Given the description of an element on the screen output the (x, y) to click on. 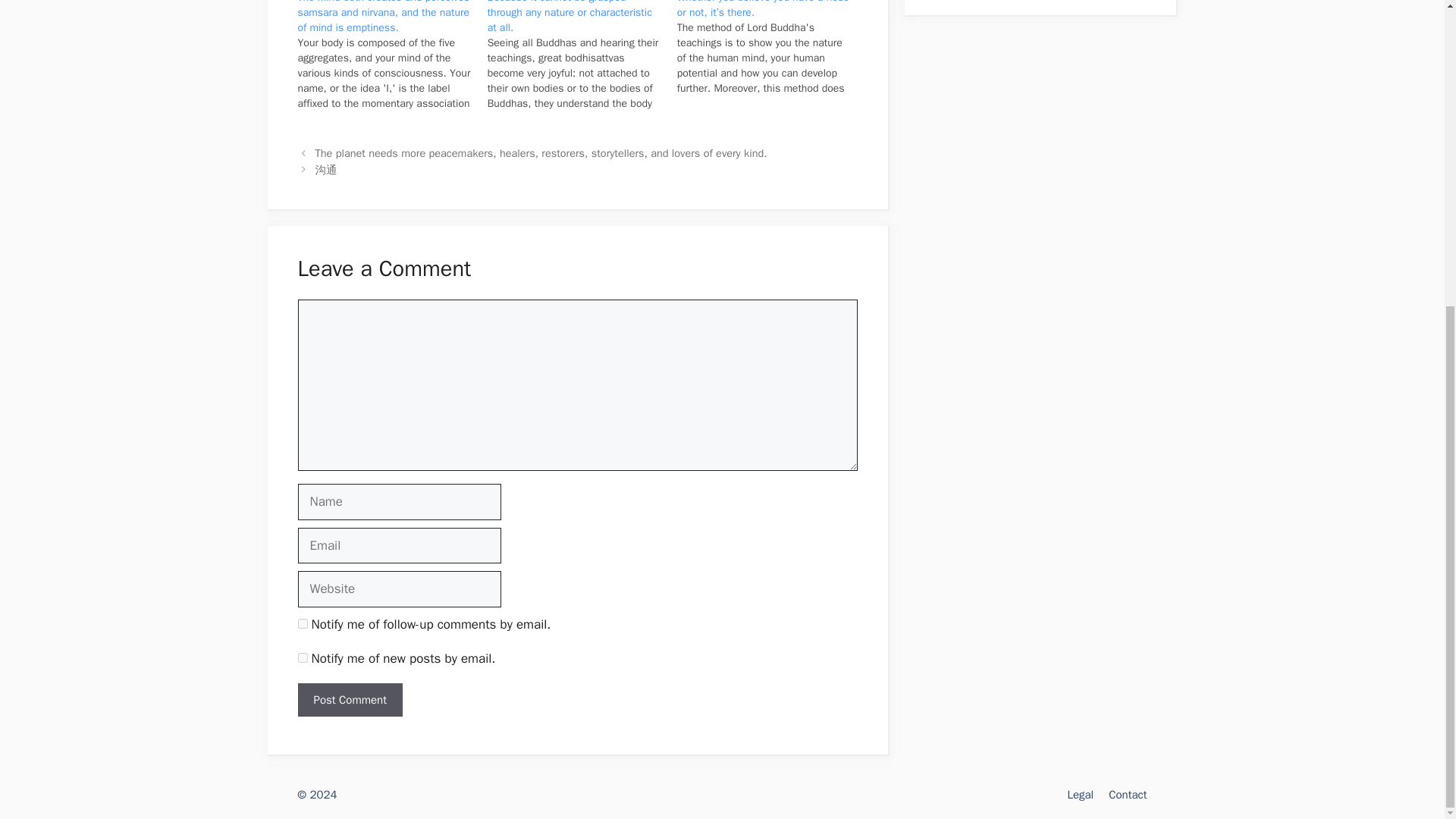
Contact (1127, 794)
subscribe (302, 623)
Next (326, 169)
Legal (1080, 794)
subscribe (302, 657)
Post Comment (349, 700)
Previous (541, 152)
Post Comment (349, 700)
